Given the description of an element on the screen output the (x, y) to click on. 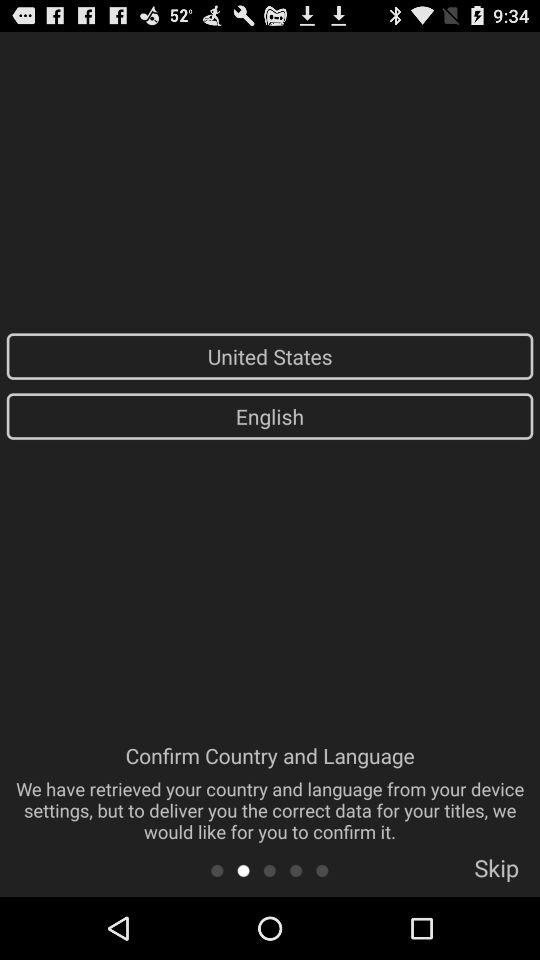
launch app to the left of skip icon (321, 870)
